Given the description of an element on the screen output the (x, y) to click on. 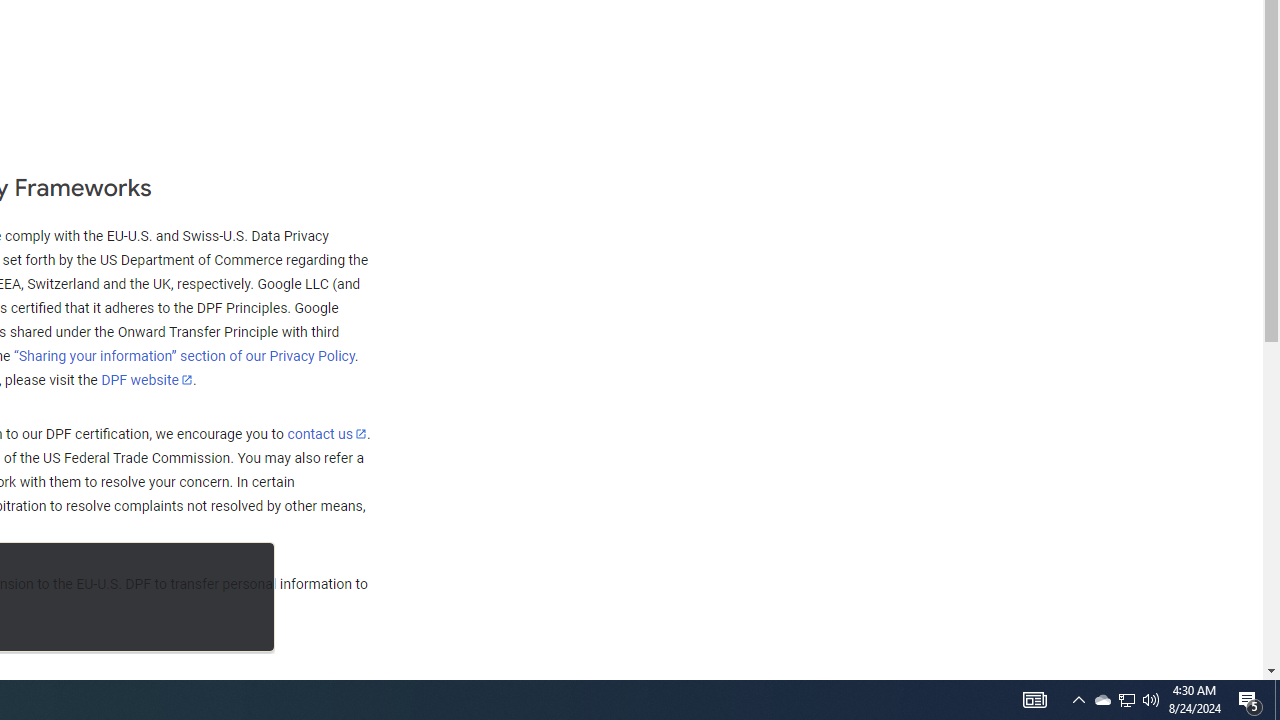
DPF website (147, 379)
contact us (326, 433)
